Given the description of an element on the screen output the (x, y) to click on. 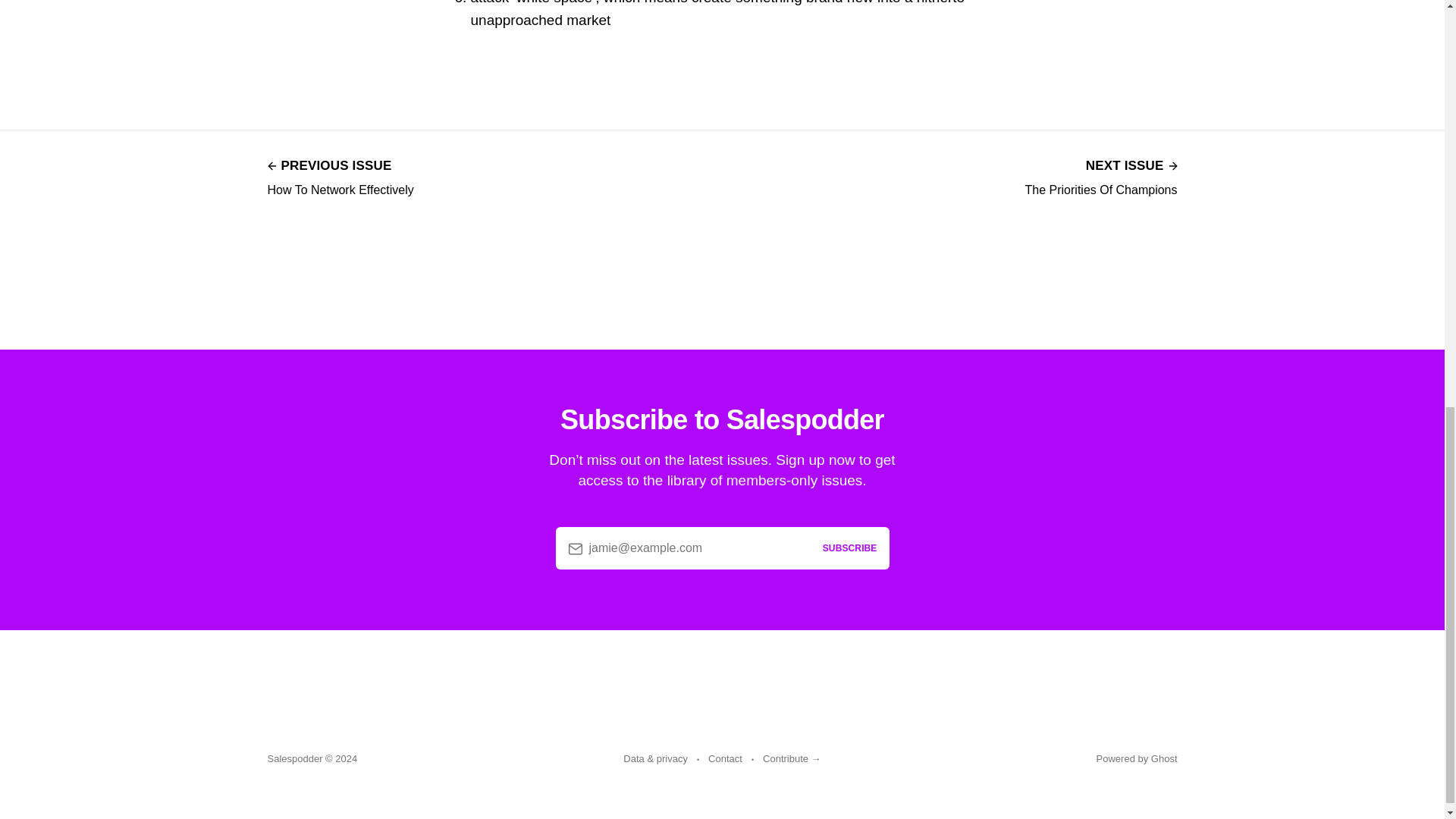
Contact (724, 759)
Powered by Ghost (1101, 176)
